Given the description of an element on the screen output the (x, y) to click on. 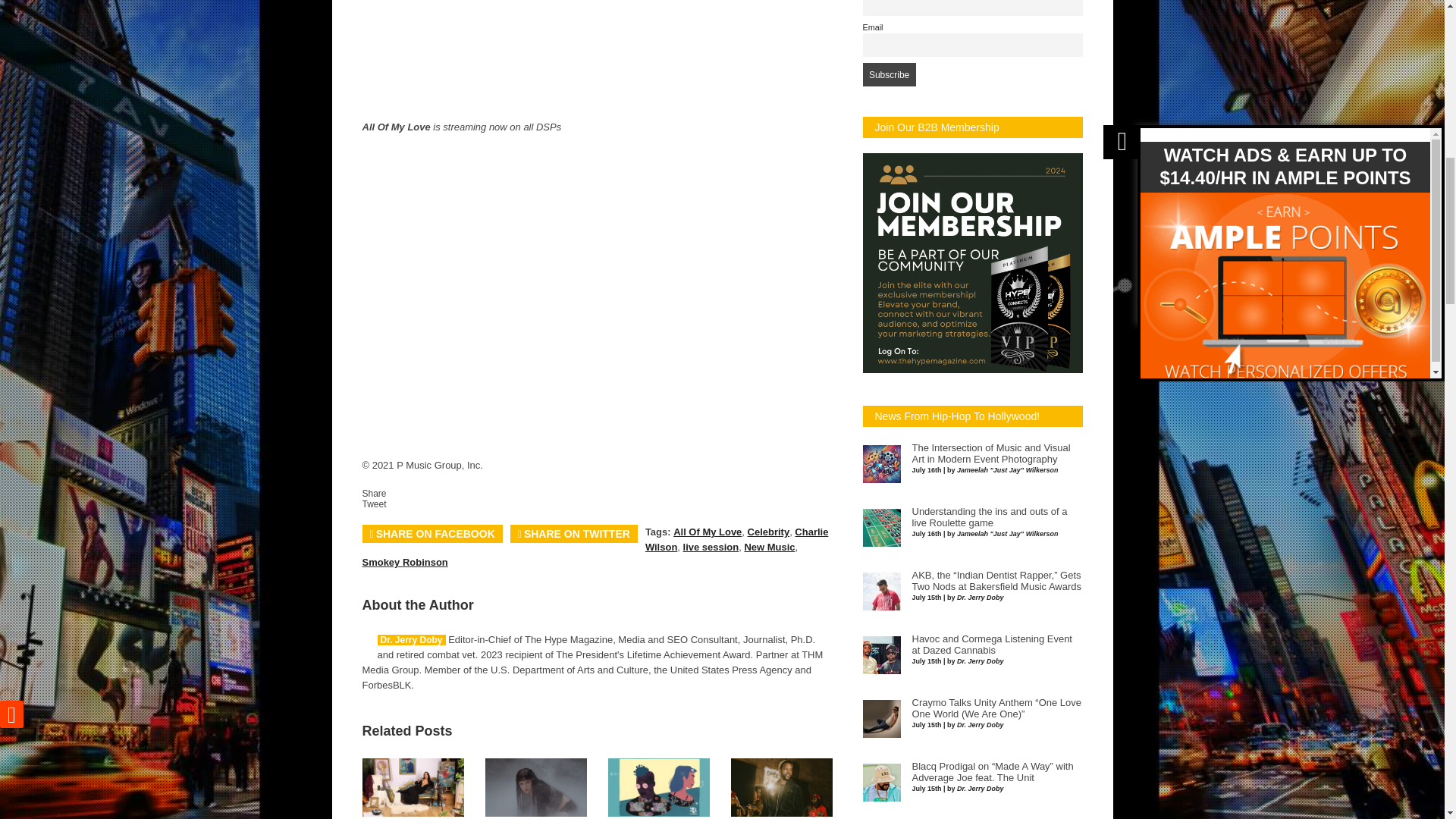
Havoc and Cormega Listening Event at Dazed Cannabis (991, 644)
live session (710, 546)
SHARE ON TWITTER (574, 533)
Smokey Robinson (405, 562)
Noisetteya: A Living Embodiment of Art (413, 813)
Understanding the ins and outs of a live Roulette game (989, 517)
Share (374, 493)
All Of My Love (706, 531)
Charlie Wilson (736, 539)
Celebrity (769, 531)
New Music (769, 546)
Subscribe (889, 74)
SHARE ON FACEBOOK (432, 533)
Tweet (374, 503)
